Given the description of an element on the screen output the (x, y) to click on. 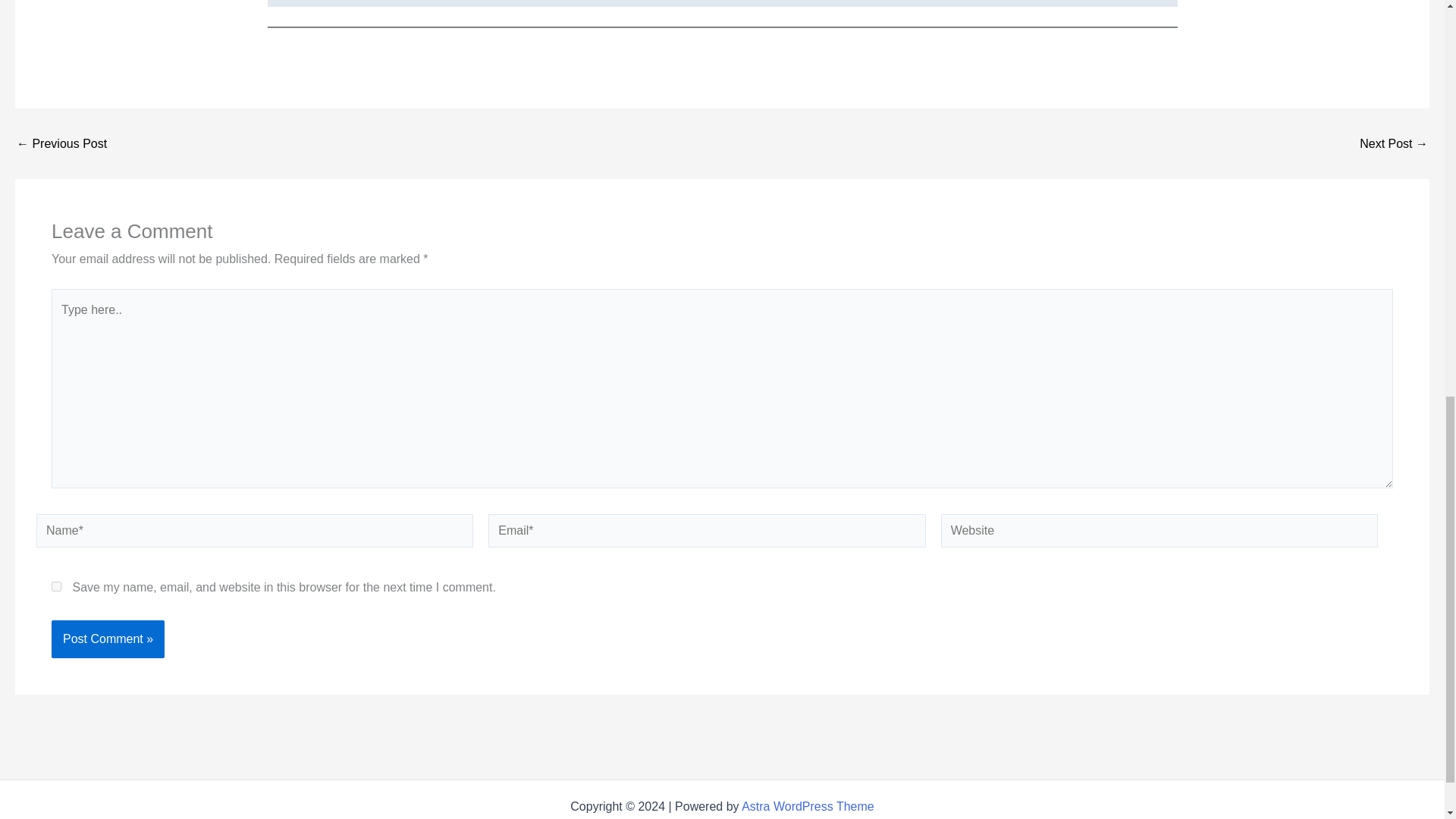
Addictions, Alcoholism and Trauma (61, 143)
yes (55, 586)
Untreated Addiction, Families Can Recover! (1393, 143)
